Given the description of an element on the screen output the (x, y) to click on. 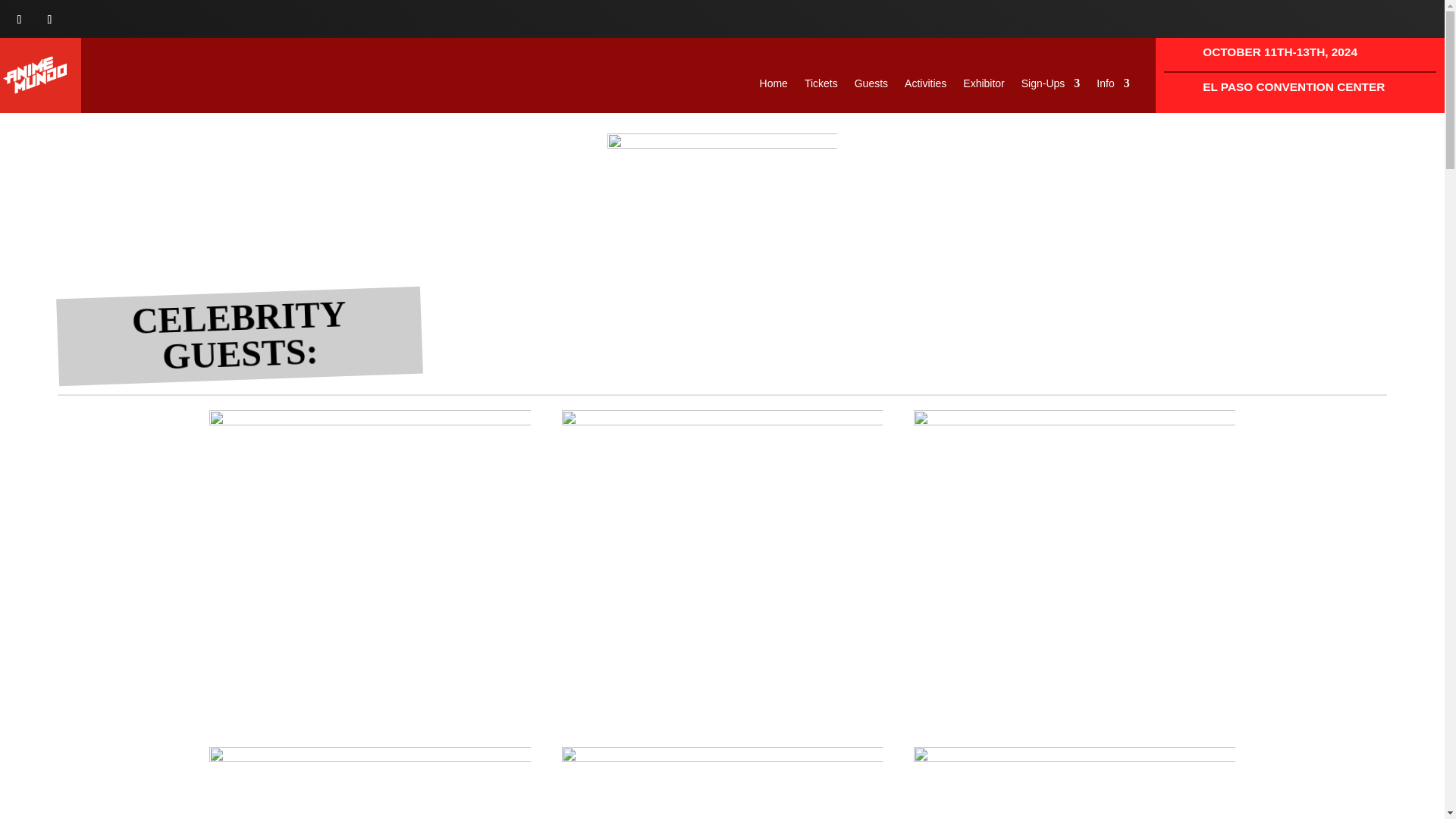
AM Deathnote Celebrity Announcement - Brad Swaile (370, 571)
Activities (925, 86)
AM Deathnote Celebrity Announcement - Shannon Kent Chan (1074, 571)
Exhibitor (983, 86)
Home (773, 86)
Info (1112, 86)
Tickets (821, 86)
Follow on Facebook (19, 19)
cropped-Anime-Mundo-Icon.png (34, 75)
AM Celebrity Announcement - Rene Garcia (1074, 782)
